Given the description of an element on the screen output the (x, y) to click on. 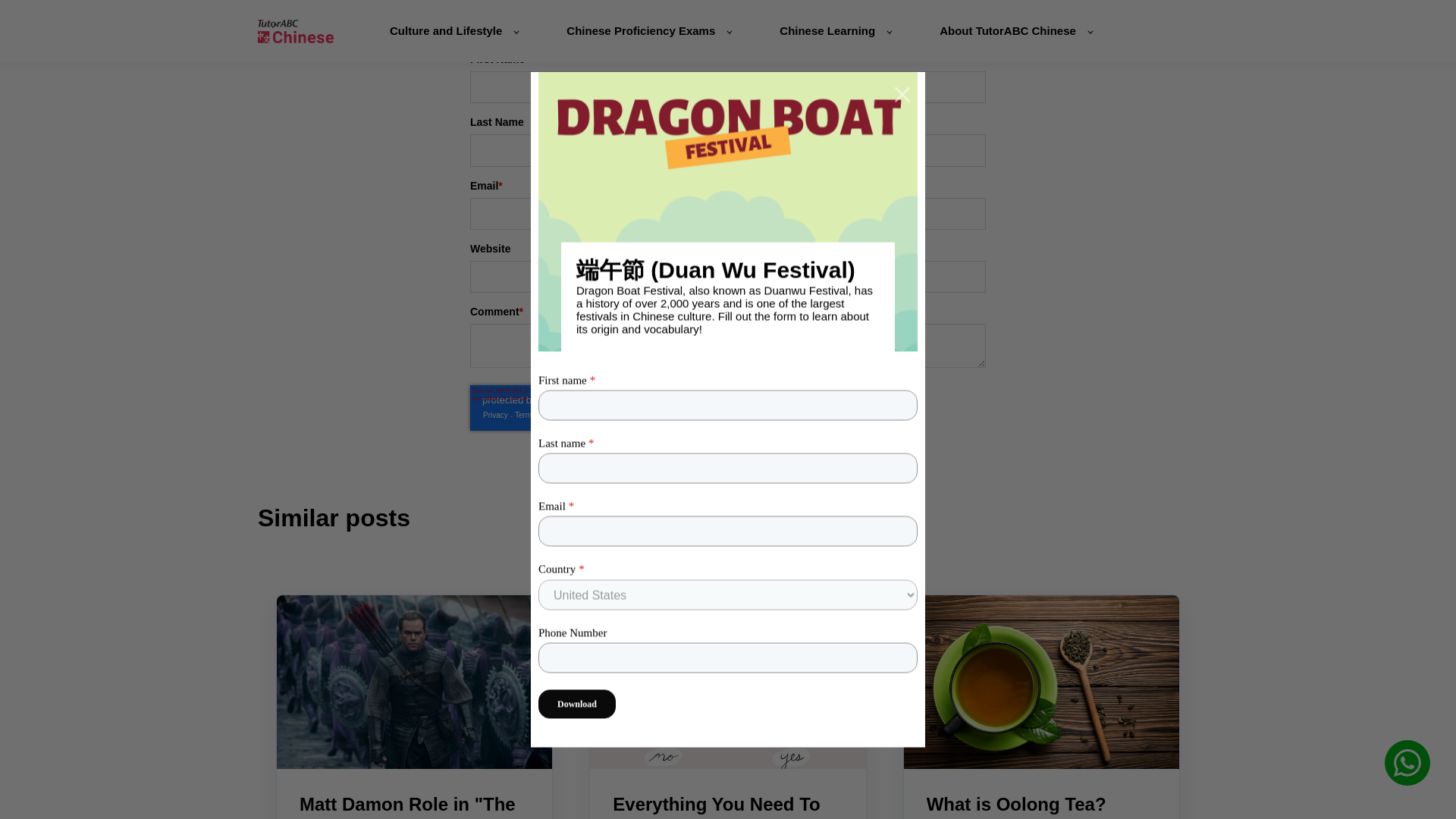
Submit Comment (727, 459)
